Given the description of an element on the screen output the (x, y) to click on. 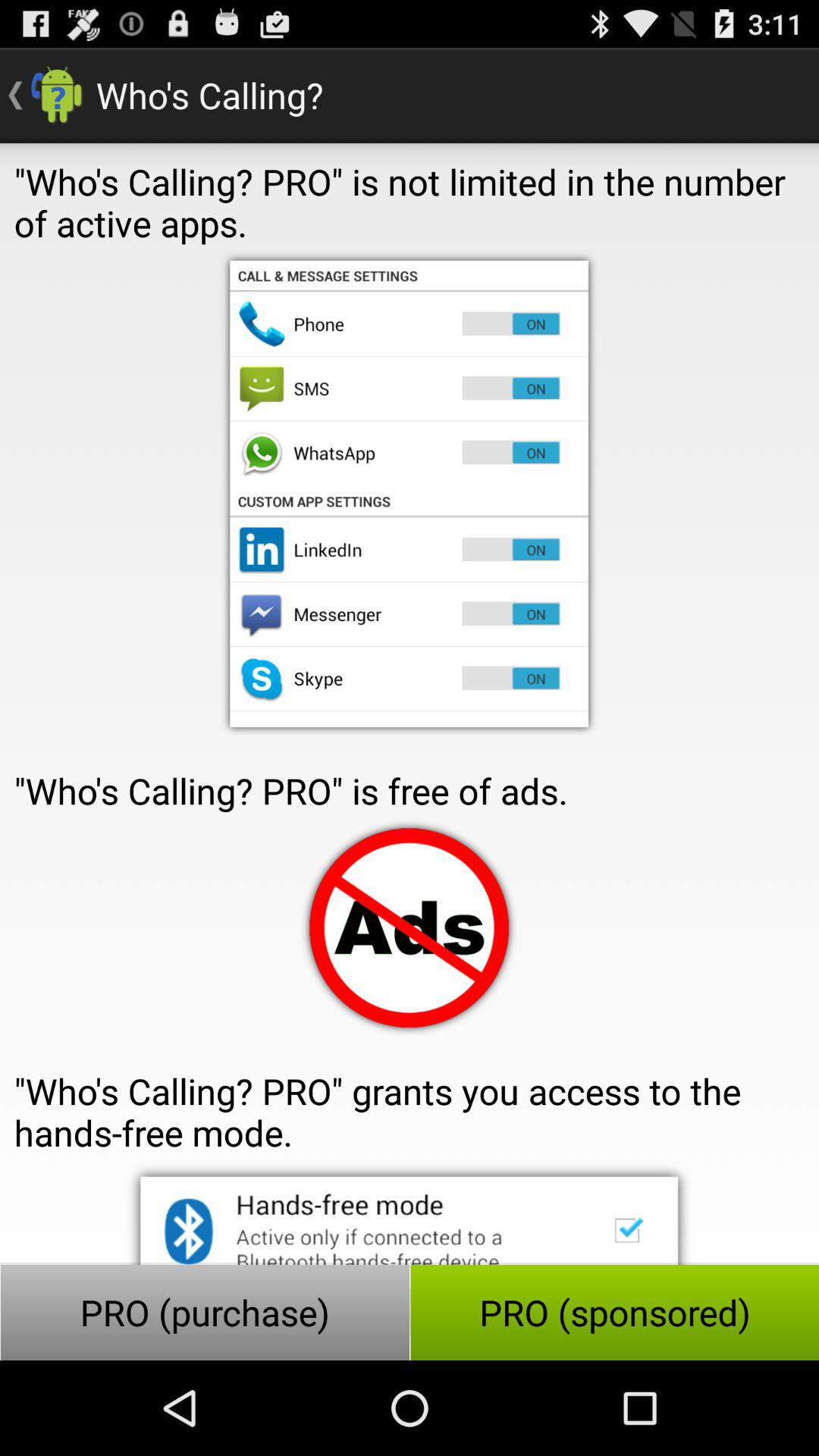
press button next to the pro (purchase) icon (614, 1312)
